Given the description of an element on the screen output the (x, y) to click on. 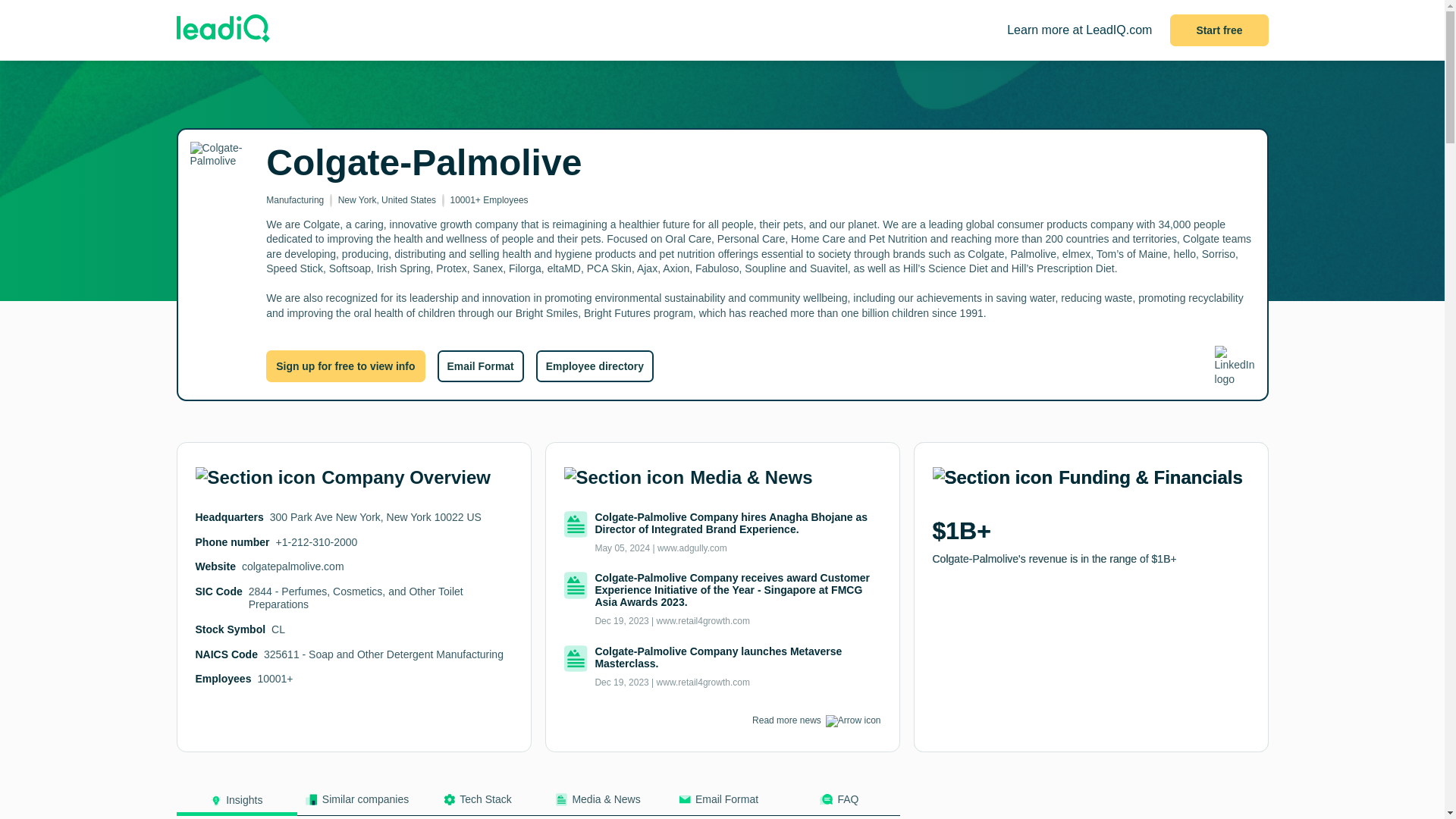
Similar companies (357, 803)
Start free (1219, 29)
Learn more at LeadIQ.com (1079, 29)
Sign up for free to view info (345, 366)
Tech Stack (476, 803)
colgatepalmolive.com (292, 566)
Email Format (479, 366)
Email Format (718, 803)
FAQ (838, 803)
Insights (236, 804)
Employee directory (594, 366)
